Given the description of an element on the screen output the (x, y) to click on. 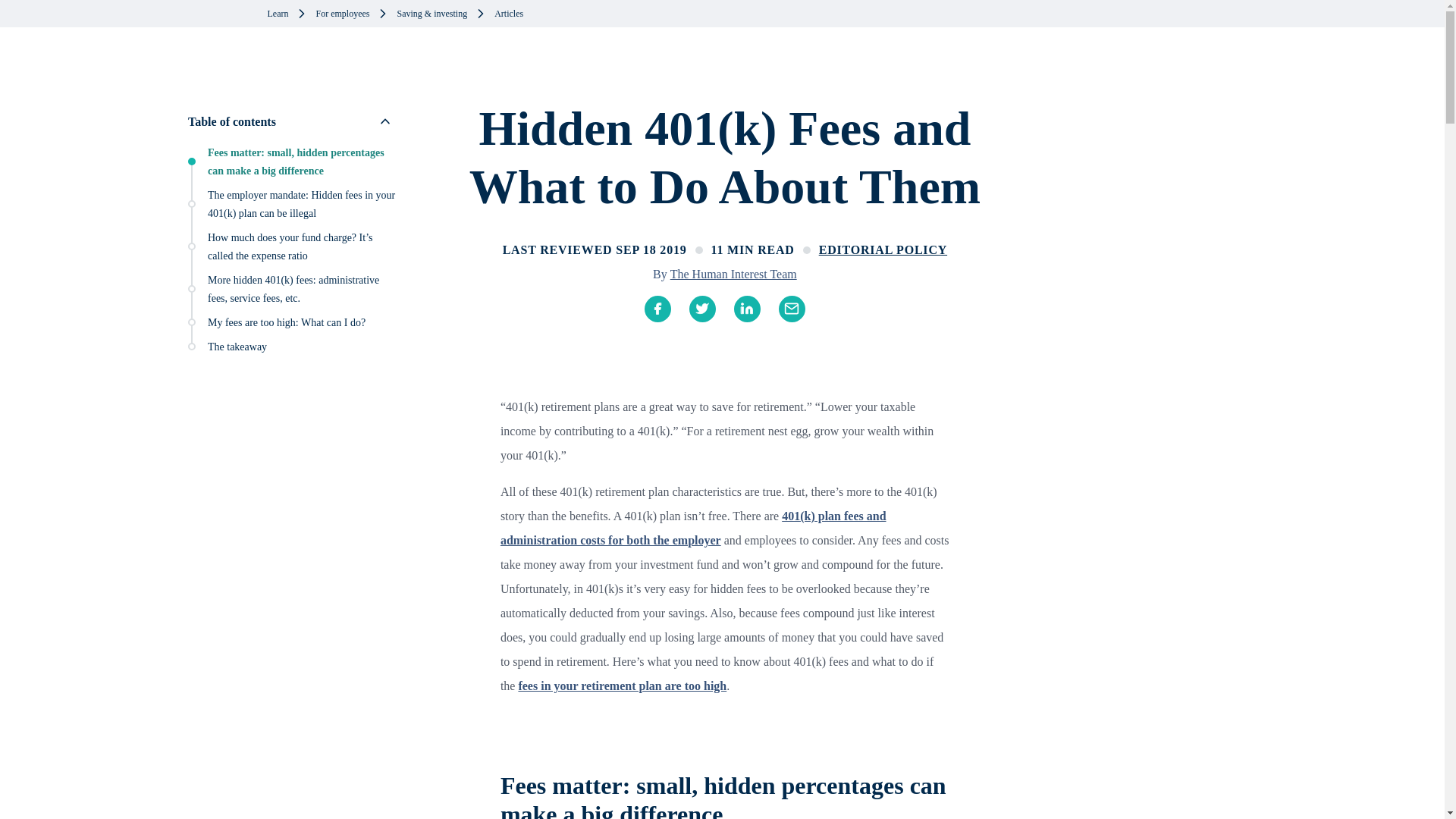
Learn (277, 13)
fees in your retirement plan are too high (622, 685)
My fees are too high: What can I do? (286, 322)
Table of contents (292, 121)
Share to LinkedIn (738, 308)
Articles (508, 13)
Share via Email (782, 308)
EDITORIAL POLICY (882, 249)
For employees (342, 13)
Share to Facebook (648, 308)
